Given the description of an element on the screen output the (x, y) to click on. 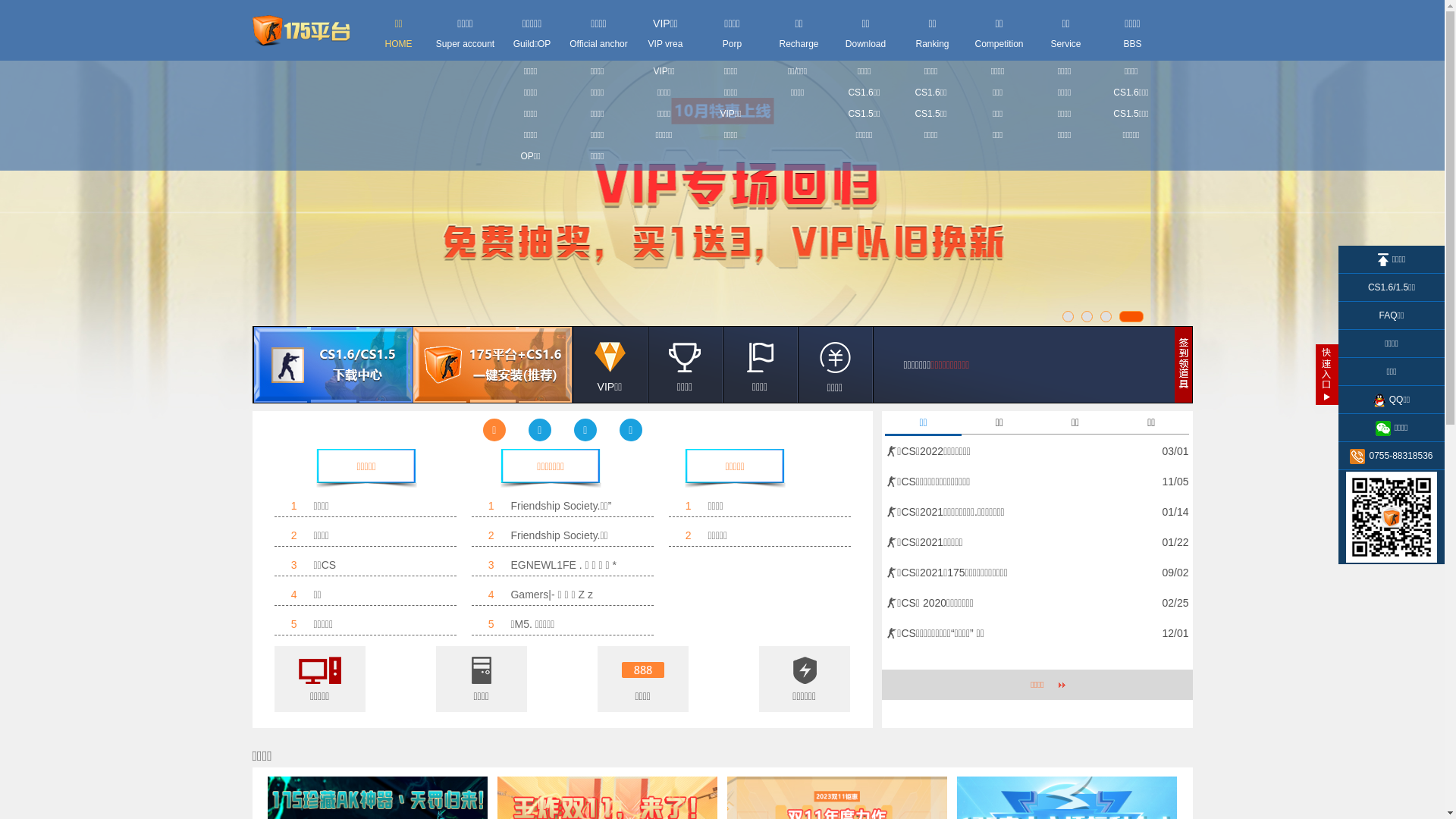
0755-88318536 Element type: text (1391, 456)
